Given the description of an element on the screen output the (x, y) to click on. 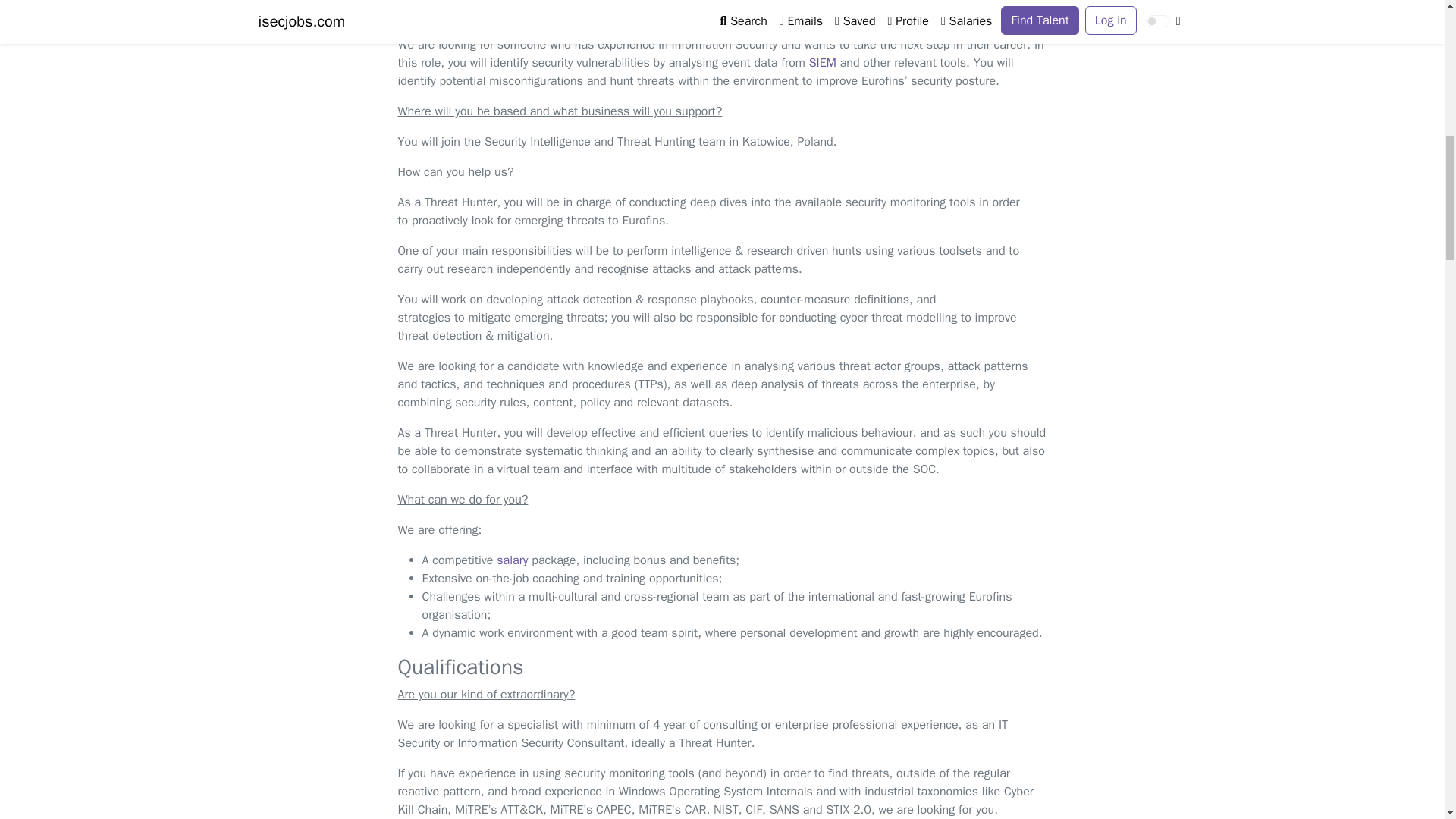
salary (511, 560)
SIEM (822, 62)
